Given the description of an element on the screen output the (x, y) to click on. 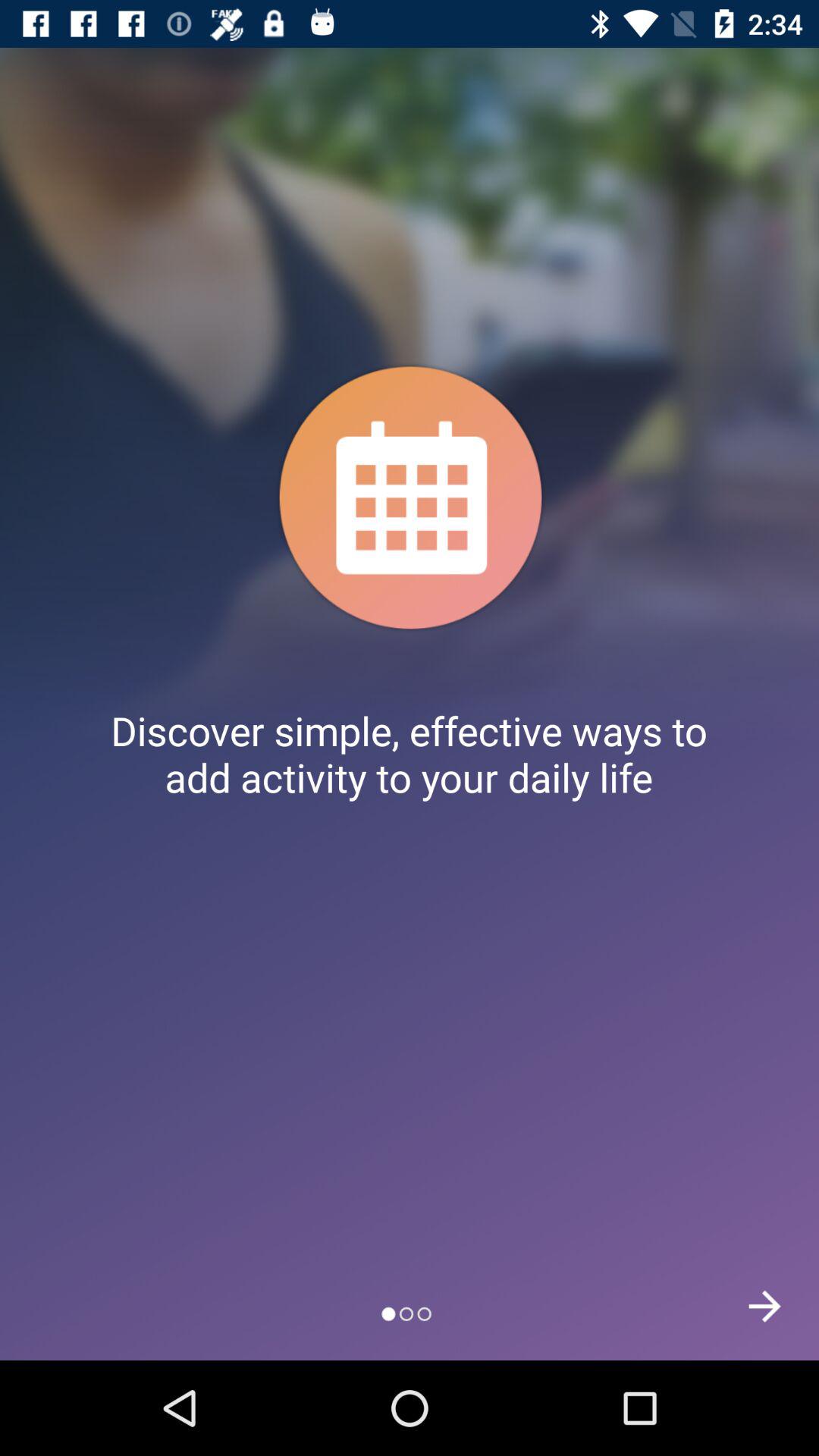
select the arrow (764, 1306)
